Given the description of an element on the screen output the (x, y) to click on. 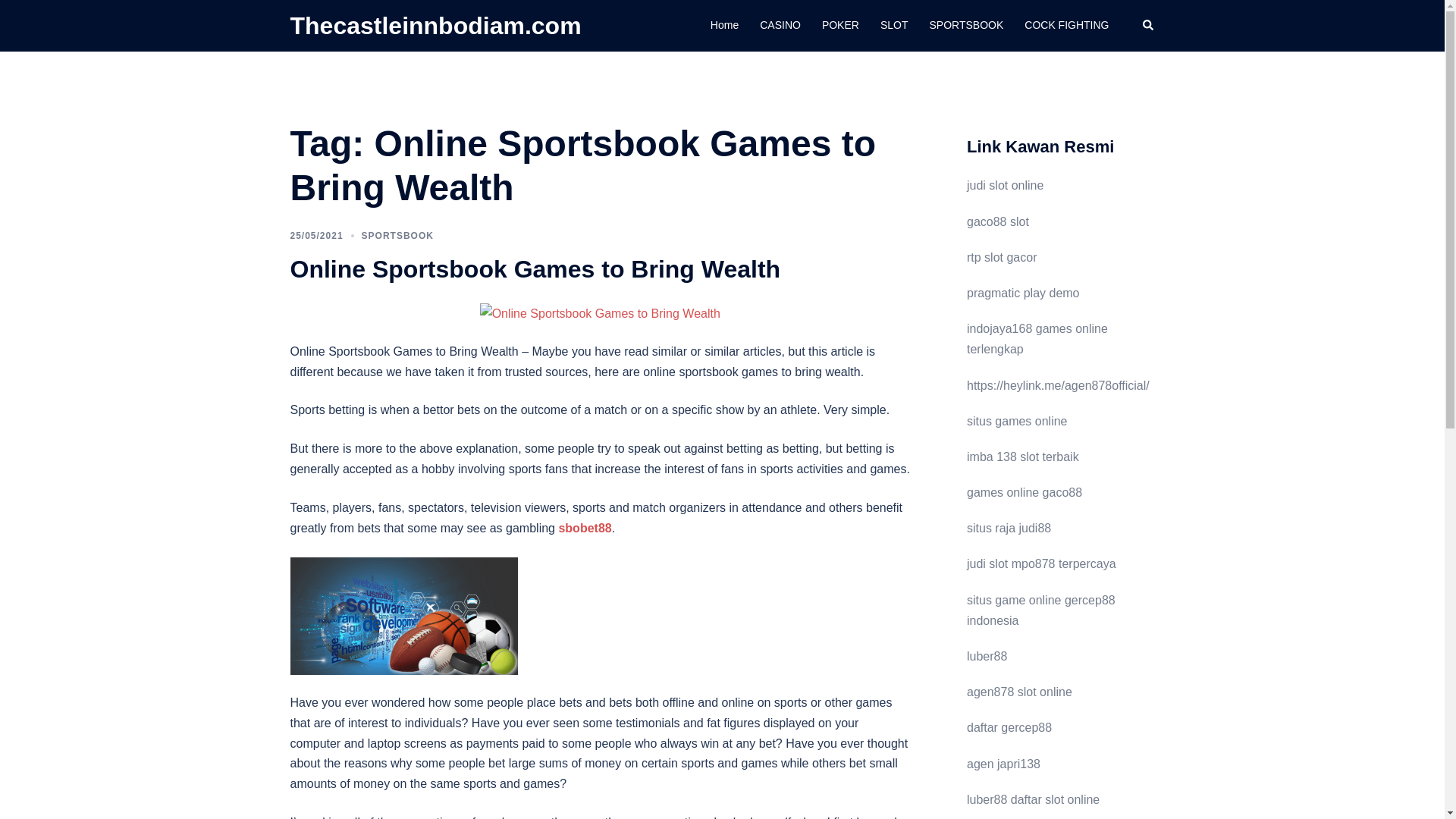
COCK FIGHTING (1066, 25)
CASINO (780, 25)
SPORTSBOOK (965, 25)
Thecastleinnbodiam.com (434, 25)
Search (1147, 25)
sbobet88 (584, 527)
imba 138 slot terbaik (1022, 456)
POKER (840, 25)
rtp slot gacor (1001, 256)
Home (724, 25)
SLOT (894, 25)
games online gaco88 (1023, 492)
situs games online (1016, 420)
pragmatic play demo (1023, 292)
situs raja judi88 (1008, 527)
